Given the description of an element on the screen output the (x, y) to click on. 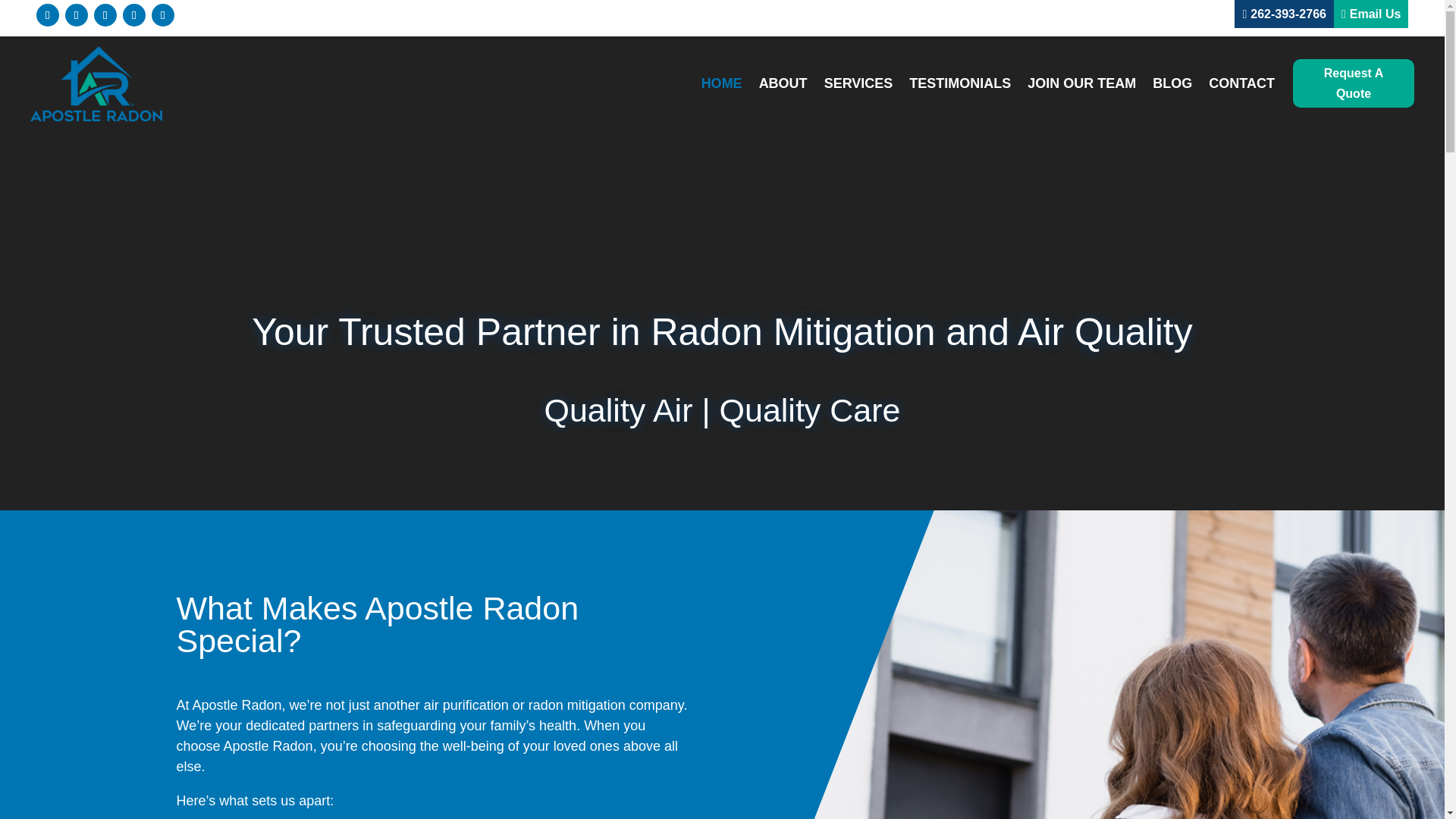
Follow on Facebook (47, 15)
Follow on Youtube (133, 15)
Follow on X (162, 15)
262-393-2766 (1288, 13)
Follow on LinkedIn (105, 15)
Request A Quote (1352, 82)
SERVICES (858, 83)
TESTIMONIALS (959, 83)
Email Us (1374, 13)
JOIN OUR TEAM (1081, 83)
Follow on Instagram (76, 15)
